Given the description of an element on the screen output the (x, y) to click on. 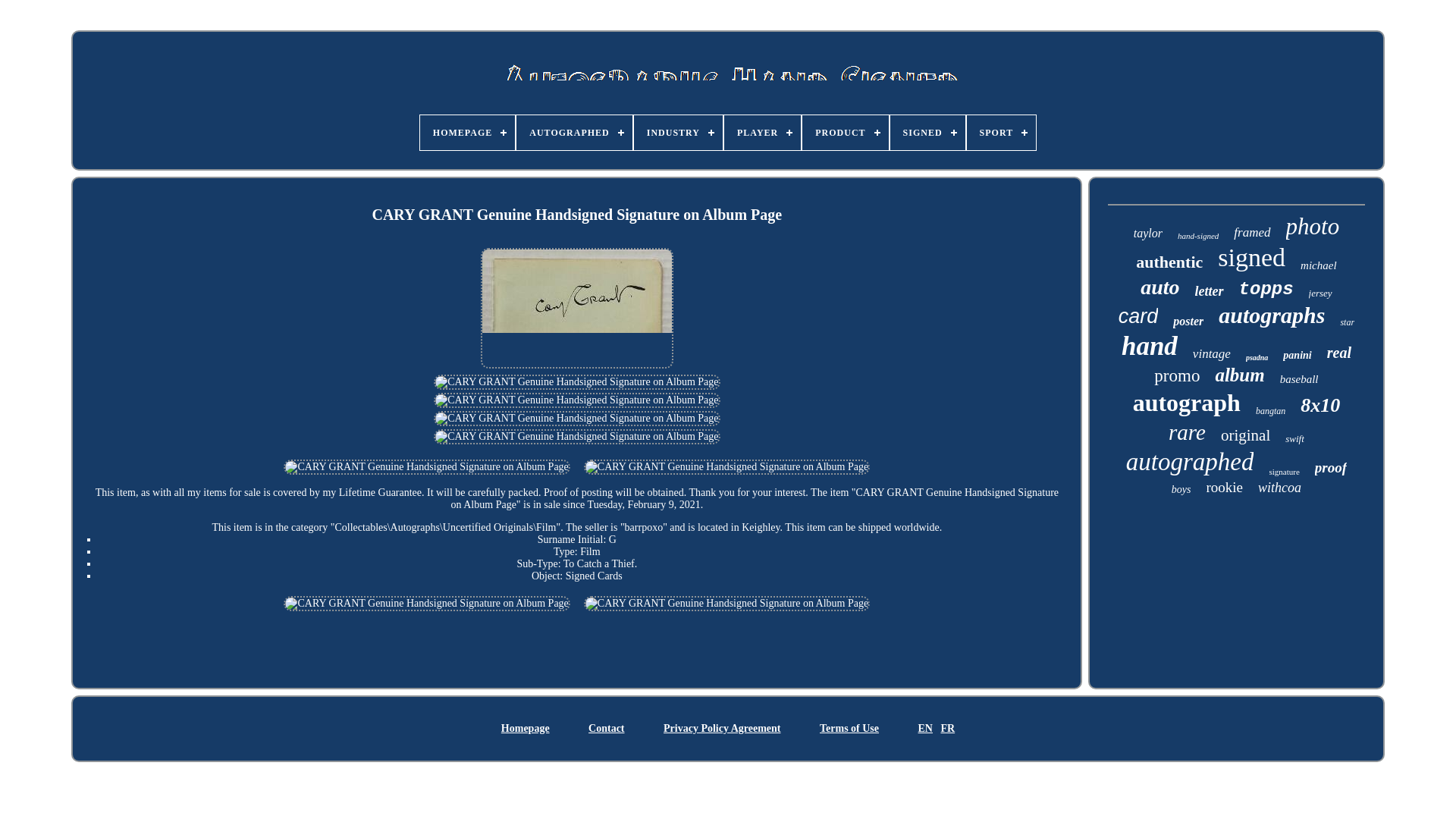
CARY GRANT Genuine Handsigned Signature on Album Page (576, 308)
PLAYER (761, 132)
CARY GRANT Genuine Handsigned Signature on Album Page (576, 436)
HOMEPAGE (467, 132)
INDUSTRY (677, 132)
CARY GRANT Genuine Handsigned Signature on Album Page (576, 418)
AUTOGRAPHED (573, 132)
CARY GRANT Genuine Handsigned Signature on Album Page (726, 467)
CARY GRANT Genuine Handsigned Signature on Album Page (576, 381)
CARY GRANT Genuine Handsigned Signature on Album Page (576, 400)
